Given the description of an element on the screen output the (x, y) to click on. 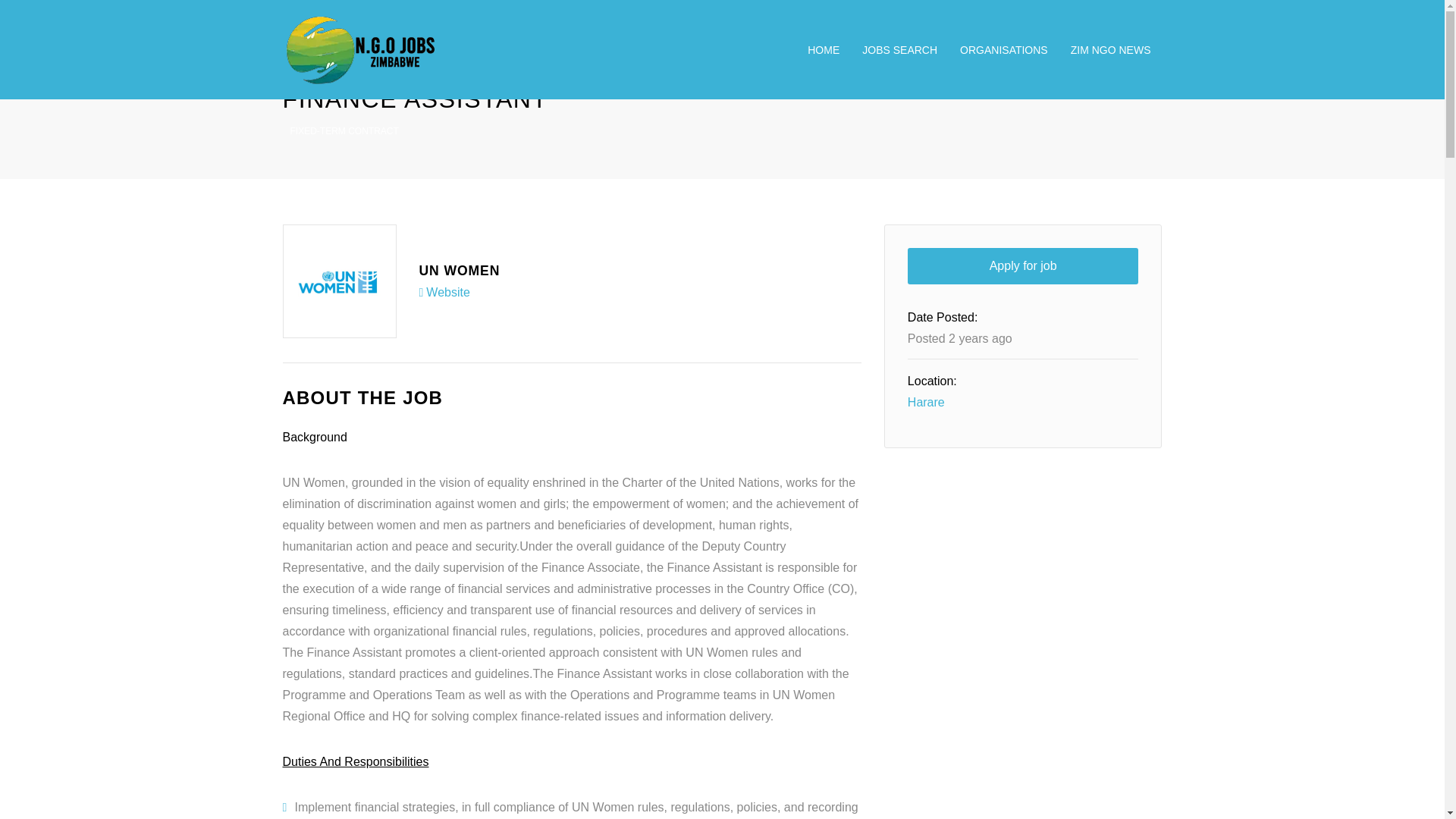
UN WOMEN (459, 269)
Harare (925, 401)
ORGANISATIONS (1004, 50)
Website (443, 291)
JOBS SEARCH (899, 50)
HOME (823, 50)
Apply for job (1022, 266)
ZIM NGO NEWS (1110, 50)
